Given the description of an element on the screen output the (x, y) to click on. 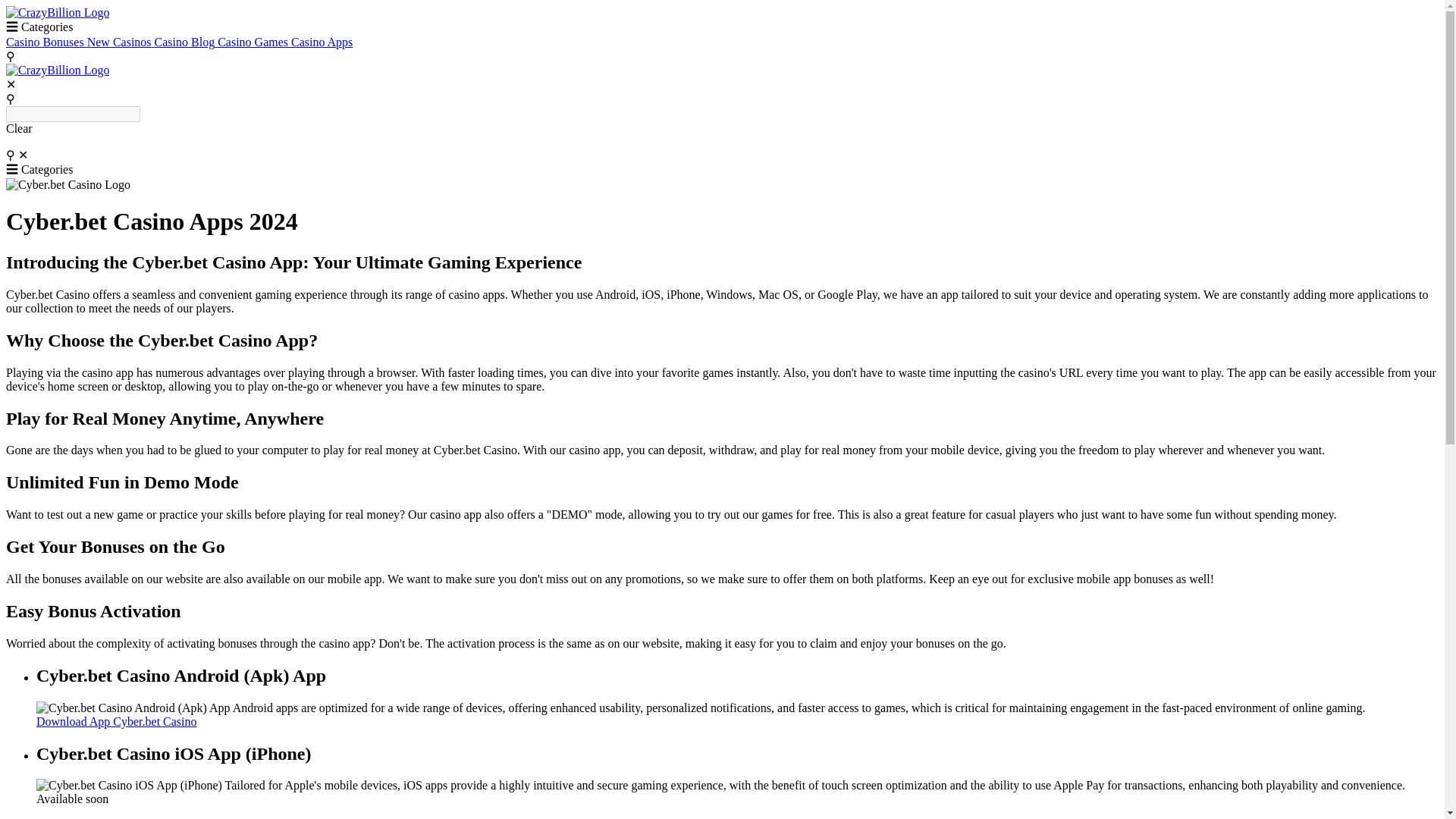
Casino Blog (186, 42)
Casino Bonuses (46, 42)
Download App Cyber.bet Casino (116, 721)
Casino Games (253, 42)
New Casinos (120, 42)
Casino Apps (321, 42)
